Given the description of an element on the screen output the (x, y) to click on. 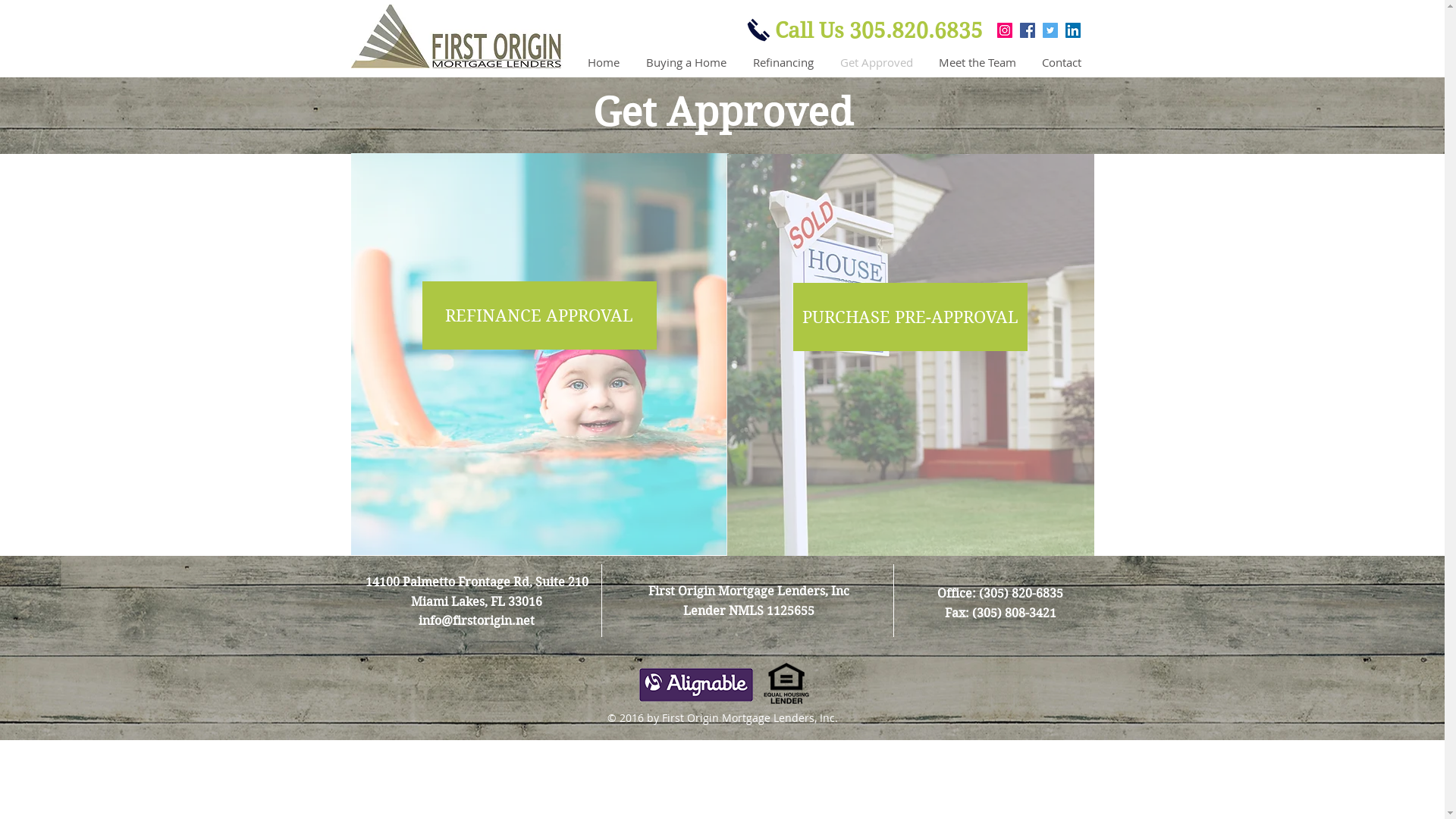
Embedded Content Element type: hover (696, 686)
First-Origin-Vector-Logo-Sideways.jpg Element type: hover (456, 36)
Embedded Content Element type: hover (358, 10)
Get Approved Element type: text (874, 61)
Learning to Swim Element type: hover (539, 354)
REFINANCE APPROVAL Element type: text (538, 315)
PURCHASE PRE-APPROVAL Element type: text (910, 316)
Call Now Element type: hover (757, 29)
Home Element type: text (600, 61)
Meet the Team Element type: text (974, 61)
Contact Element type: text (1059, 61)
Refinancing Element type: text (780, 61)
info@firstorigin.net Element type: text (476, 620)
Buying a Home Element type: text (683, 61)
